Given the description of an element on the screen output the (x, y) to click on. 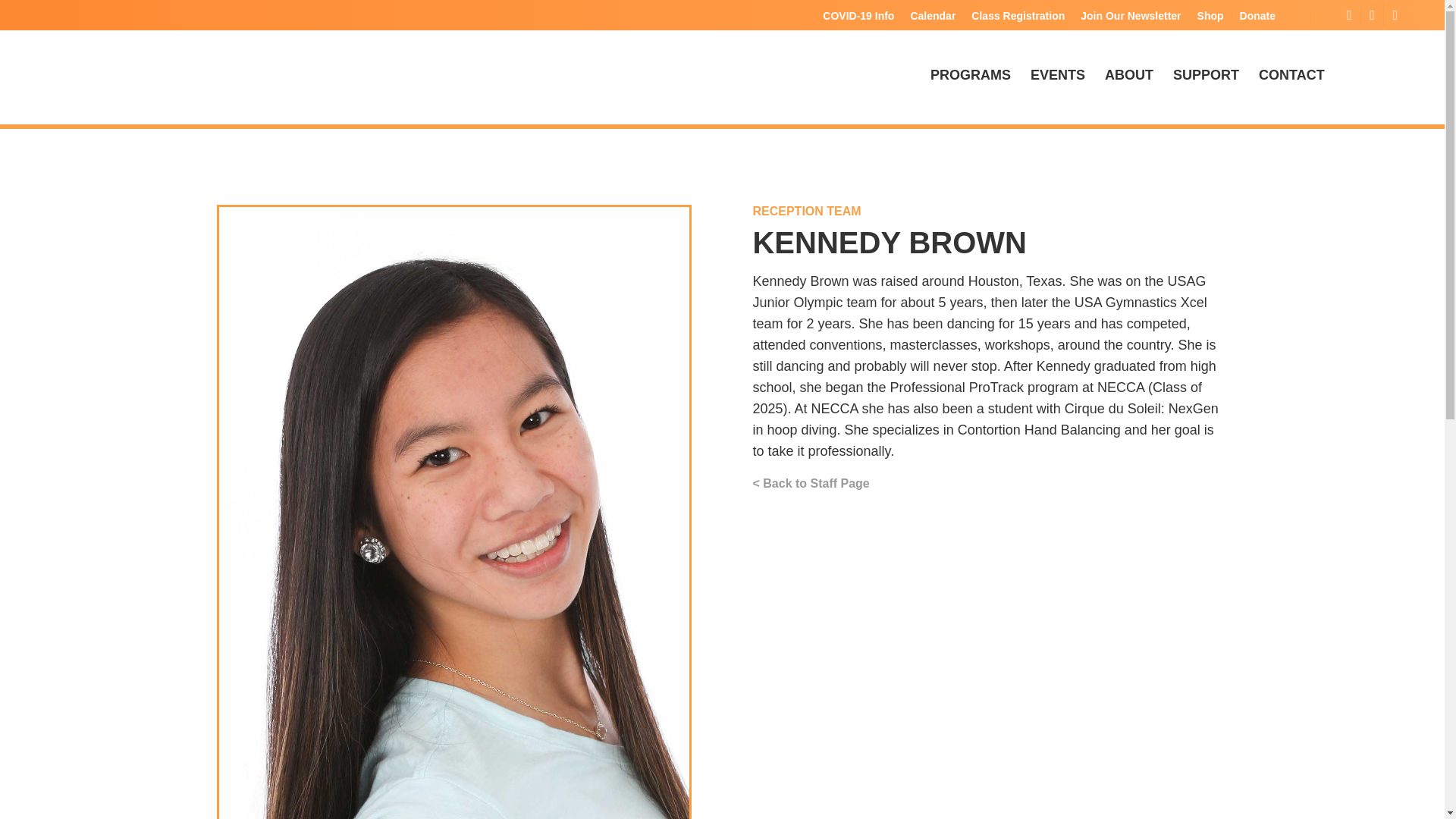
PROGRAMS (970, 74)
Shop (1210, 15)
COVID-19 Info (857, 15)
ABOUT (1128, 74)
Join Our Newsletter (1130, 15)
Donate (1257, 15)
Youtube (1395, 15)
Class Registration (1017, 15)
Facebook (1348, 15)
EVENTS (1057, 74)
Instagram (1372, 15)
Calendar (932, 15)
